Given the description of an element on the screen output the (x, y) to click on. 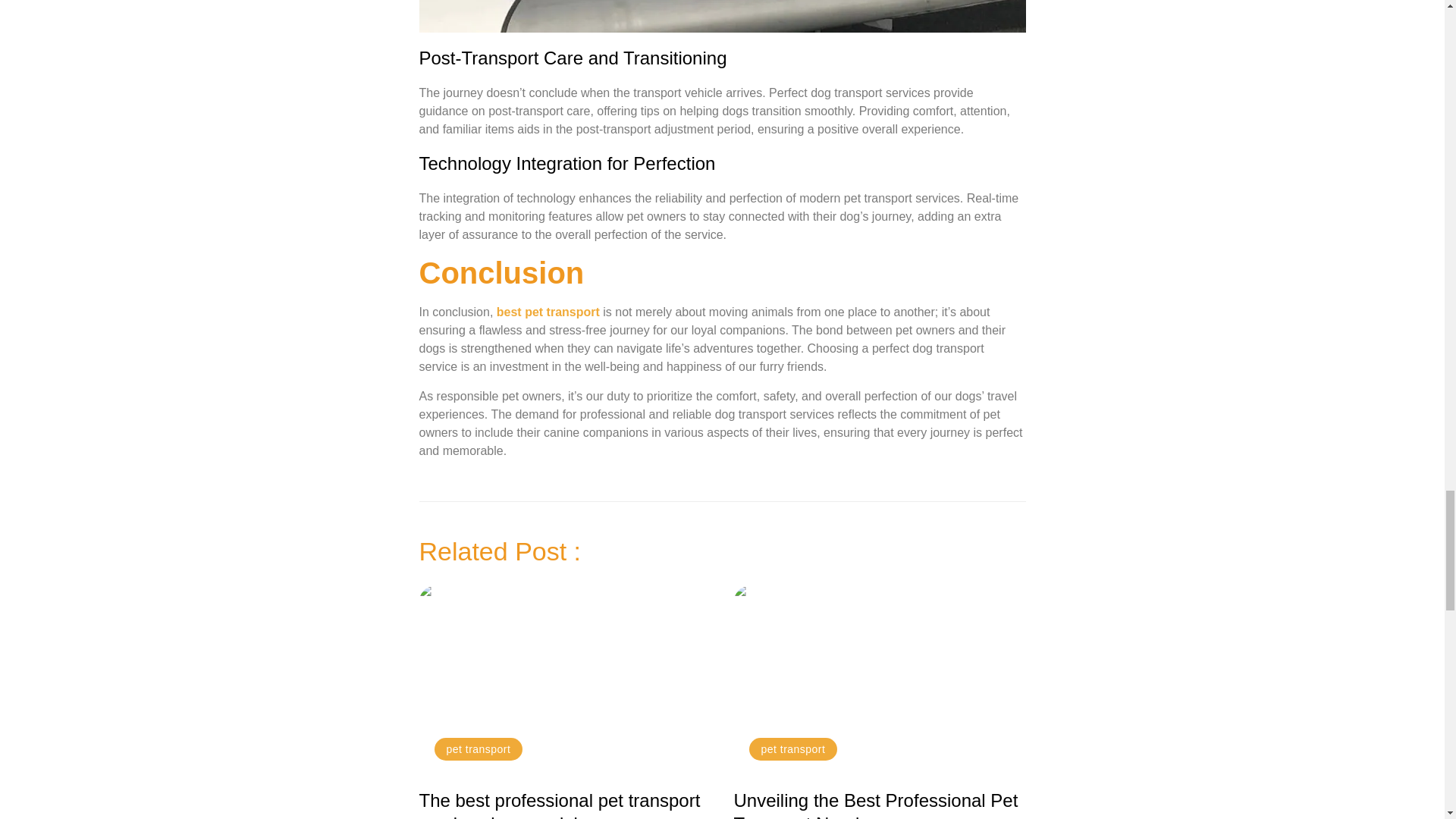
pet transport (478, 748)
Unveiling the Best Professional Pet Transport Nearby (875, 804)
best pet transport (547, 311)
The best professional pet transport services in my opinion (559, 804)
pet transport (793, 748)
